Given the description of an element on the screen output the (x, y) to click on. 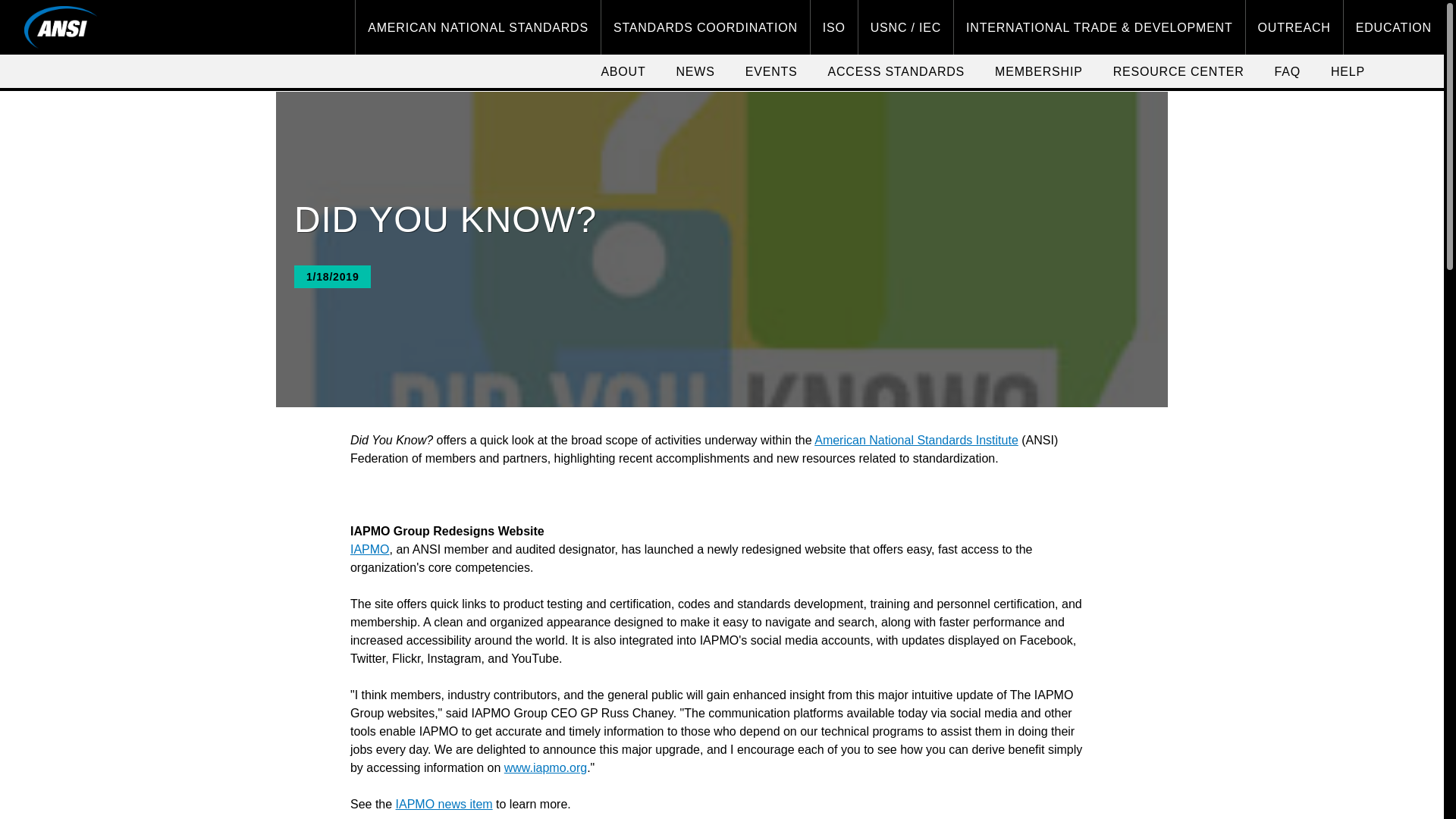
STANDARDS COORDINATION (705, 27)
AMERICAN NATIONAL STANDARDS (477, 27)
Home (60, 26)
